Given the description of an element on the screen output the (x, y) to click on. 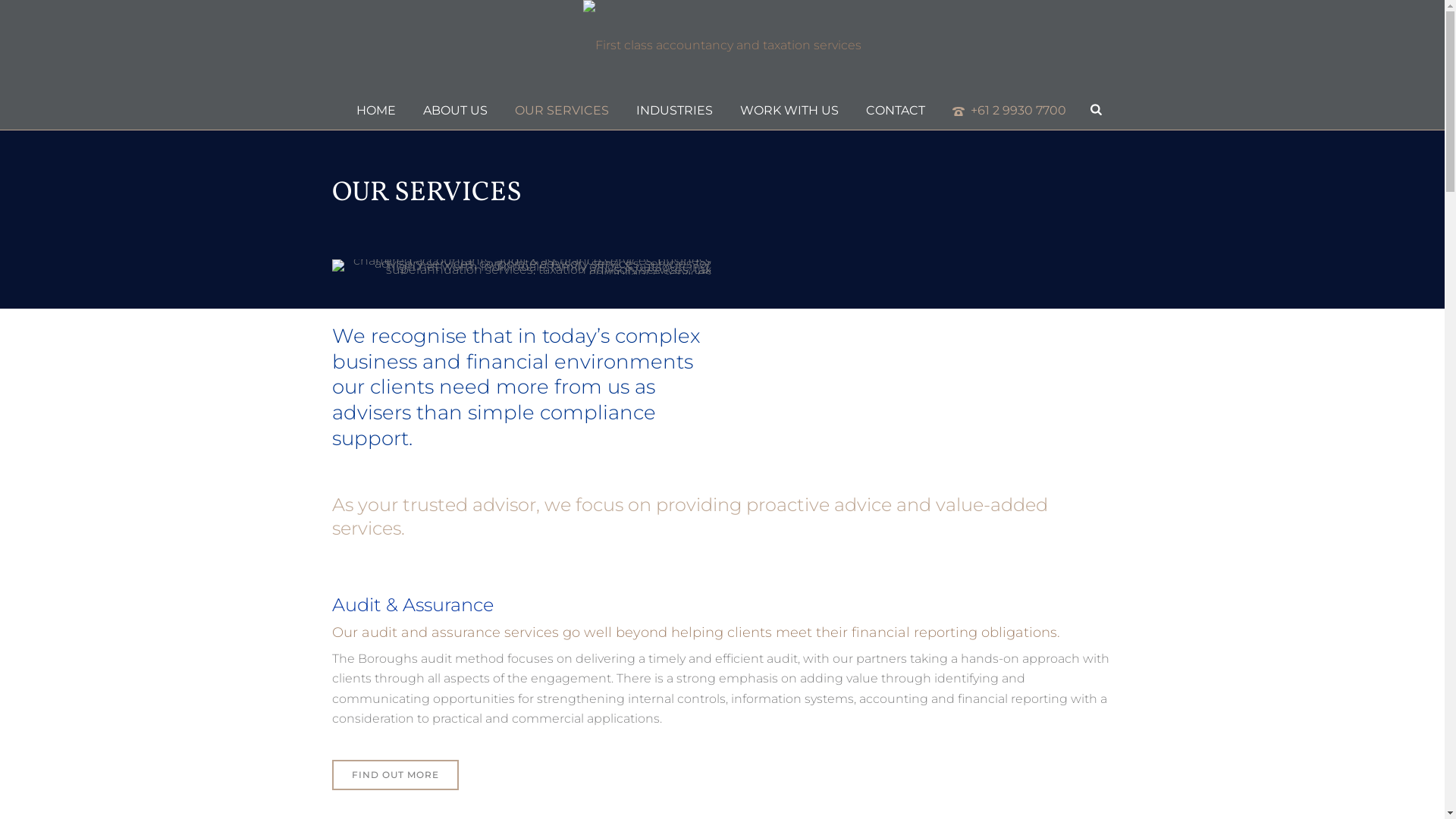
Boroughs | Chartered Accountants Sydney: Services Element type: hover (521, 266)
FIND OUT MORE Element type: text (395, 774)
INDUSTRIES Element type: text (674, 110)
Boroughs | Chartered Accountants Sydney Element type: hover (722, 45)
OUR SERVICES Element type: text (561, 110)
+61 2 9930 7700 Element type: text (1008, 110)
CONTACT Element type: text (895, 110)
WORK WITH US Element type: text (789, 110)
HOME Element type: text (375, 110)
ABOUT US Element type: text (455, 110)
